Given the description of an element on the screen output the (x, y) to click on. 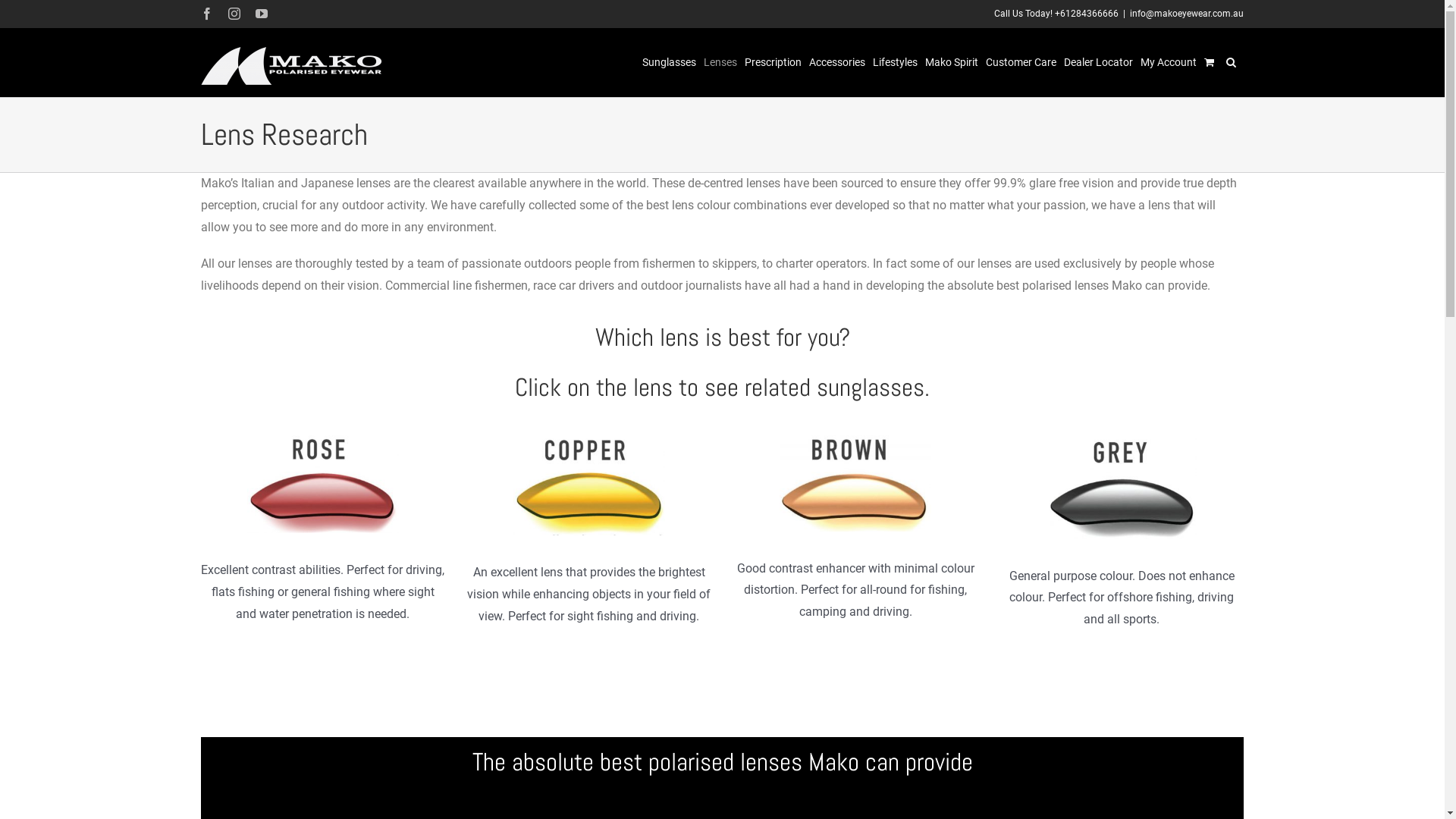
Mako Spirit Element type: text (951, 62)
Customer Care Element type: text (1020, 62)
YouTube Element type: text (261, 13)
Facebook Element type: text (206, 13)
Lenses Element type: text (720, 62)
Lifestyles Element type: text (894, 62)
Dealer Locator Element type: text (1097, 62)
info@makoeyewear.com.au Element type: text (1186, 13)
Log In Element type: text (1237, 239)
Instagram Element type: text (234, 13)
Search Element type: hover (1231, 62)
Prescription Element type: text (772, 62)
My Account Element type: text (1168, 62)
Accessories Element type: text (837, 62)
Sunglasses Element type: text (669, 62)
